Given the description of an element on the screen output the (x, y) to click on. 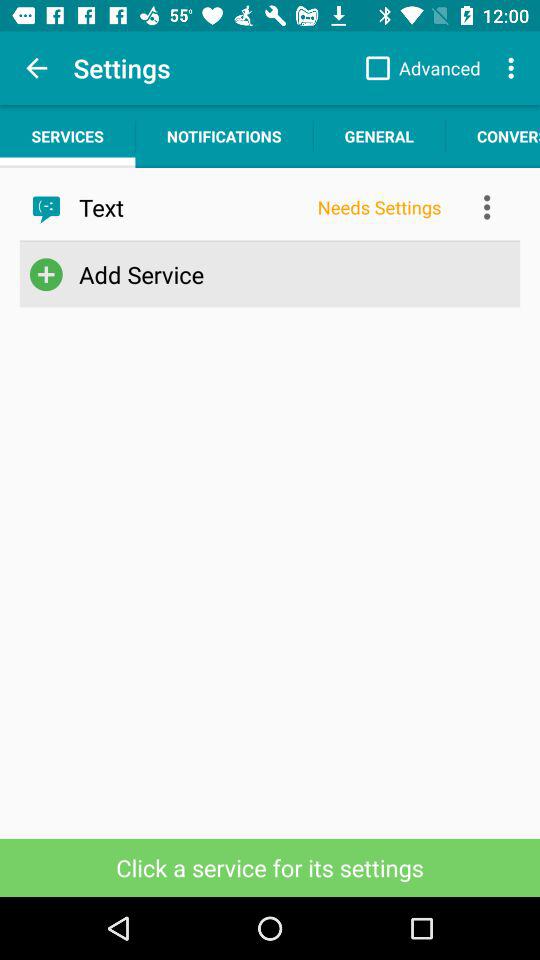
select app above the general (418, 68)
